Given the description of an element on the screen output the (x, y) to click on. 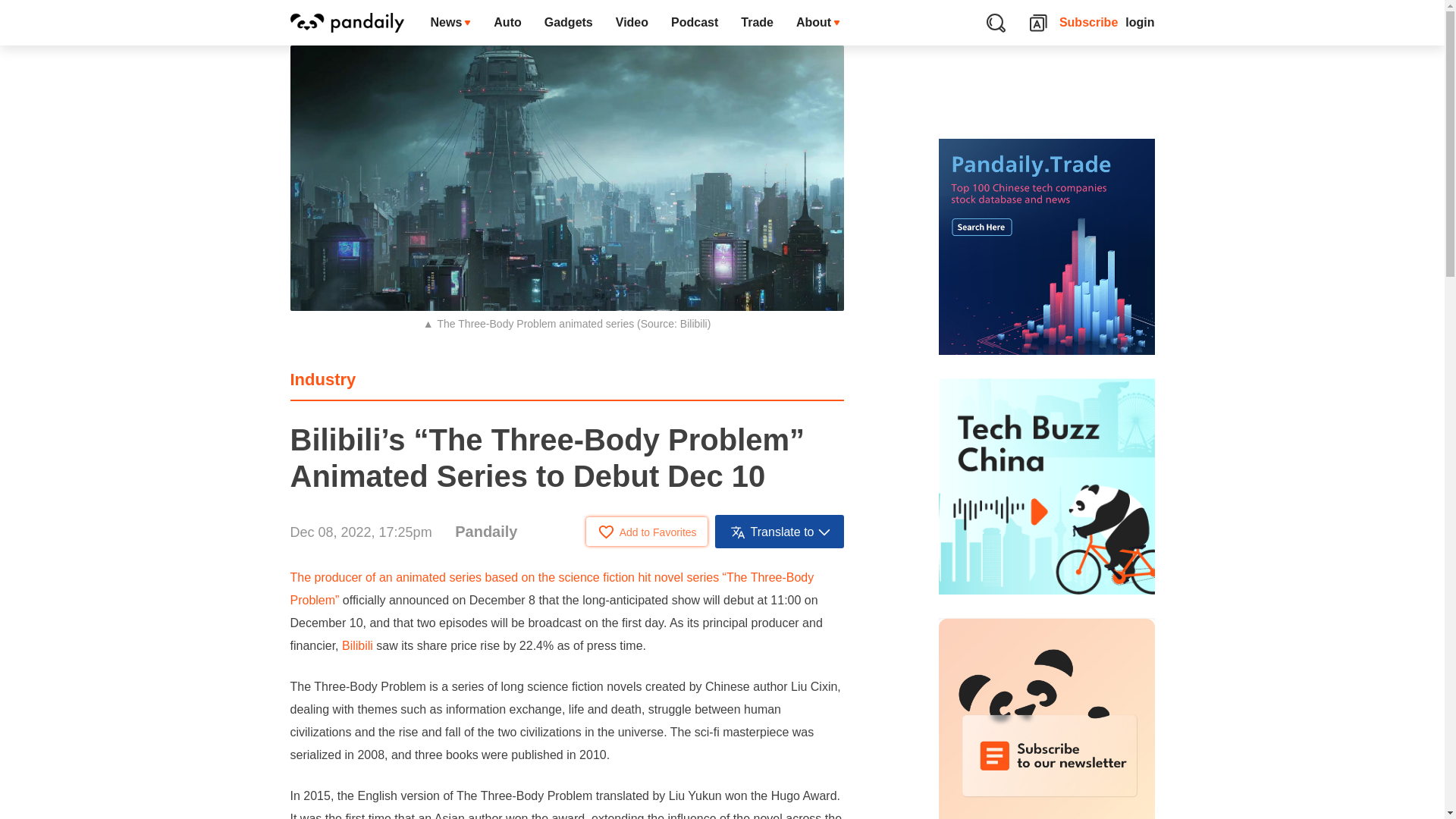
Translate to (779, 531)
Pandaily (485, 531)
Industry (322, 379)
Podcast (694, 22)
login (1139, 22)
Gadgets (568, 22)
Video (631, 22)
Trade (756, 22)
Auto (506, 22)
Dec 08, 2022, 17:25pm (359, 531)
About (817, 22)
Add to Favorites (646, 531)
Subscribe (1088, 22)
News (450, 22)
